Given the description of an element on the screen output the (x, y) to click on. 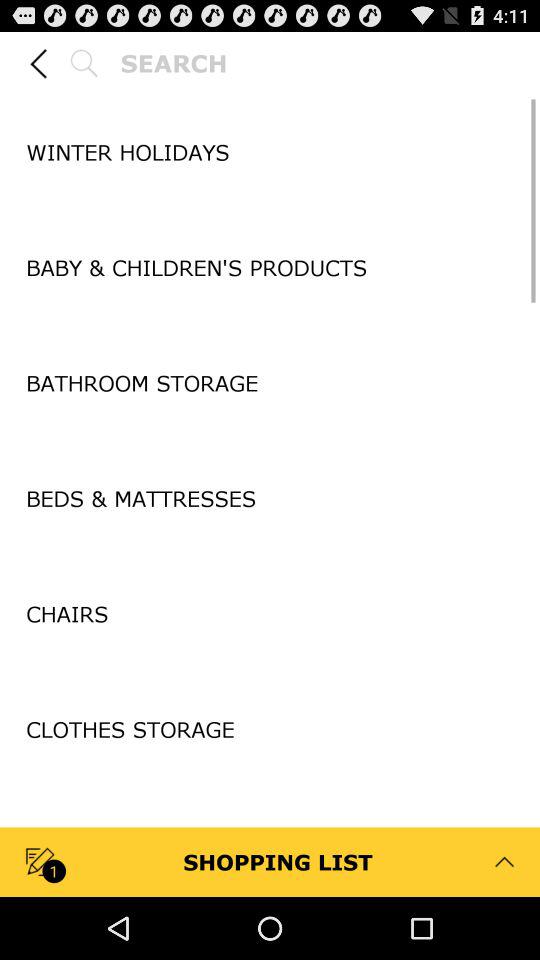
swipe until the baby children s (270, 267)
